Given the description of an element on the screen output the (x, y) to click on. 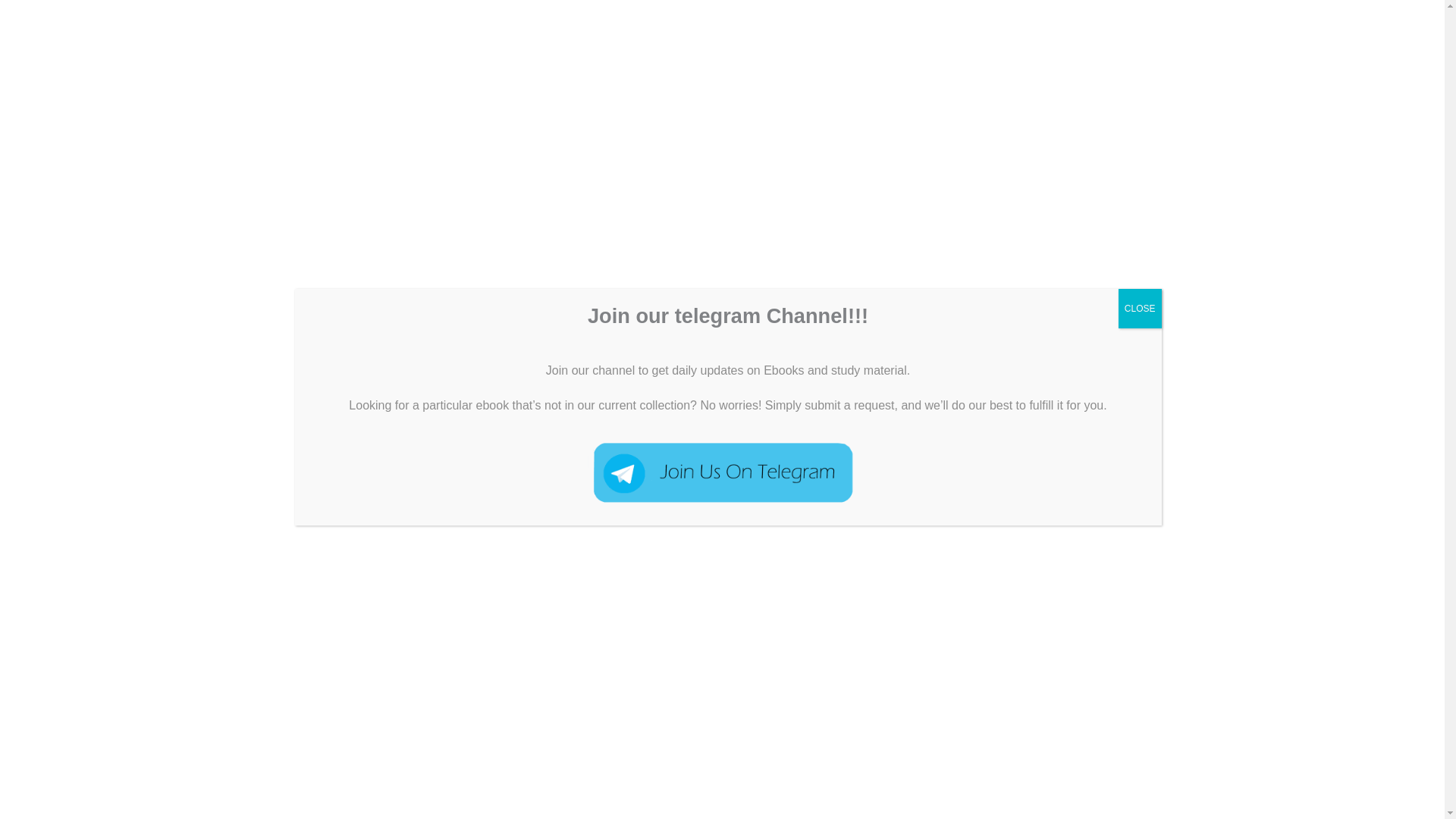
Advertisement (516, 743)
NEET (295, 440)
CHEMISTRY (486, 30)
GUJARATI (961, 30)
NAVNEET (1182, 30)
GENERAL KNOWLEDGE (837, 30)
Home (410, 30)
NEET (1251, 30)
Technicalgurugi (122, 29)
View all posts by Solanki (415, 440)
PHYSICS (343, 440)
Solanki (415, 440)
ENGLISH (716, 30)
GUJCET (1039, 30)
MATHS (1108, 30)
